Given the description of an element on the screen output the (x, y) to click on. 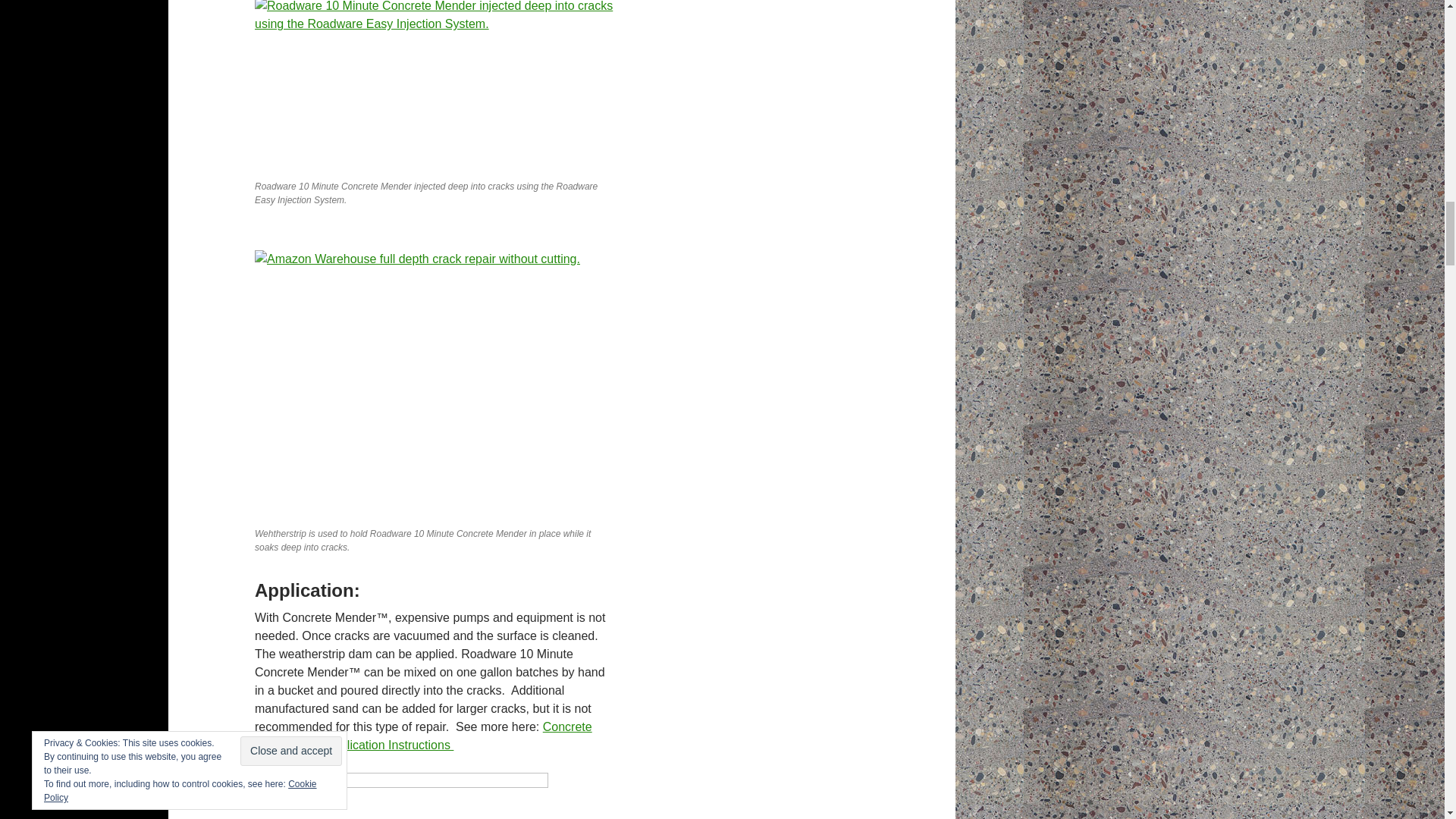
Concrete Mender Bulk Application Instructions  (423, 735)
